Given the description of an element on the screen output the (x, y) to click on. 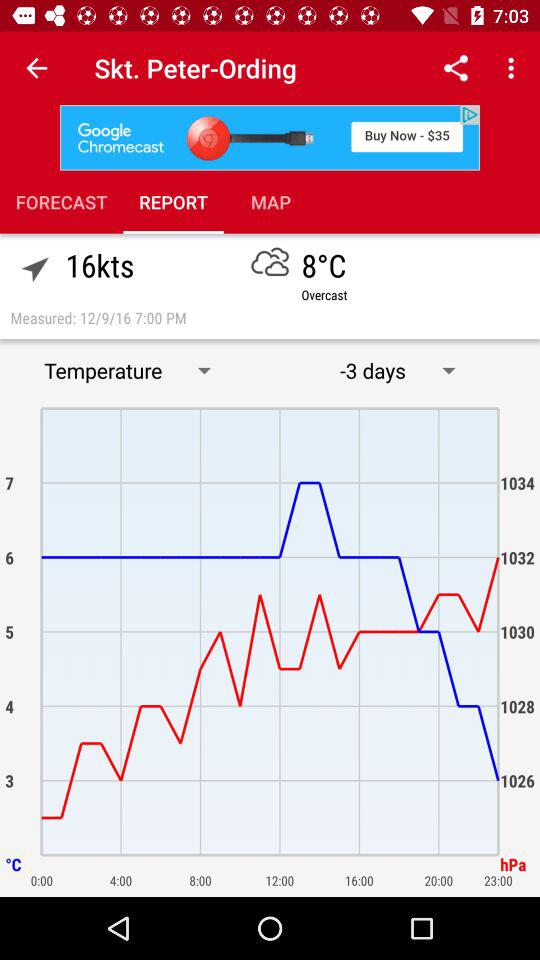
advertisement (270, 137)
